Given the description of an element on the screen output the (x, y) to click on. 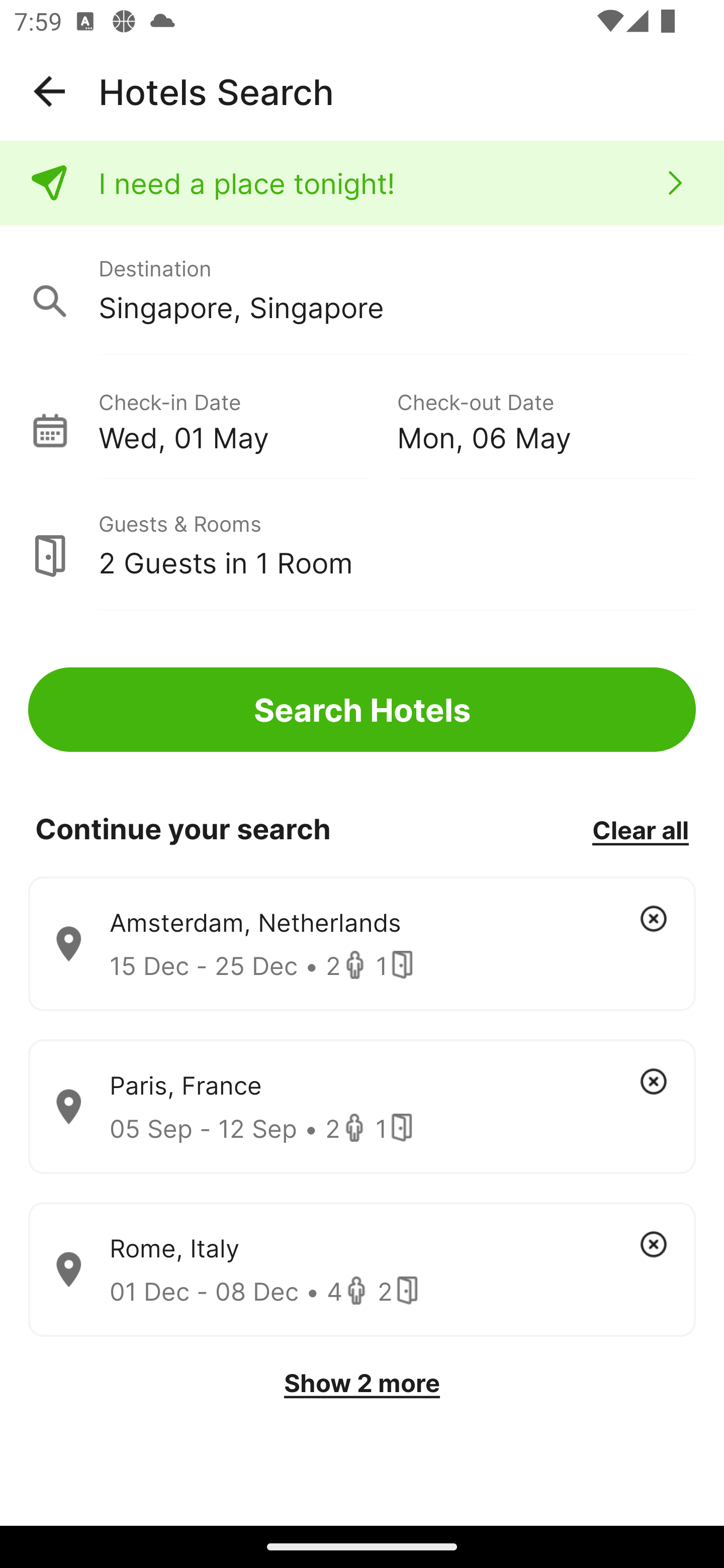
I need a place tonight! (362, 183)
Destination Singapore, Singapore (362, 290)
Check-in Date Wed, 01 May (247, 418)
Check-out Date Mon, 06 May (546, 418)
Guests & Rooms 2 Guests in 1 Room (362, 545)
Search Hotels (361, 709)
Clear all (640, 829)
Amsterdam, Netherlands 15 Dec - 25 Dec • 2  1  (361, 943)
Paris, France 05 Sep - 12 Sep • 2  1  (361, 1106)
Rome, Italy 01 Dec - 08 Dec • 4  2  (361, 1269)
Show 2 more (362, 1382)
